Given the description of an element on the screen output the (x, y) to click on. 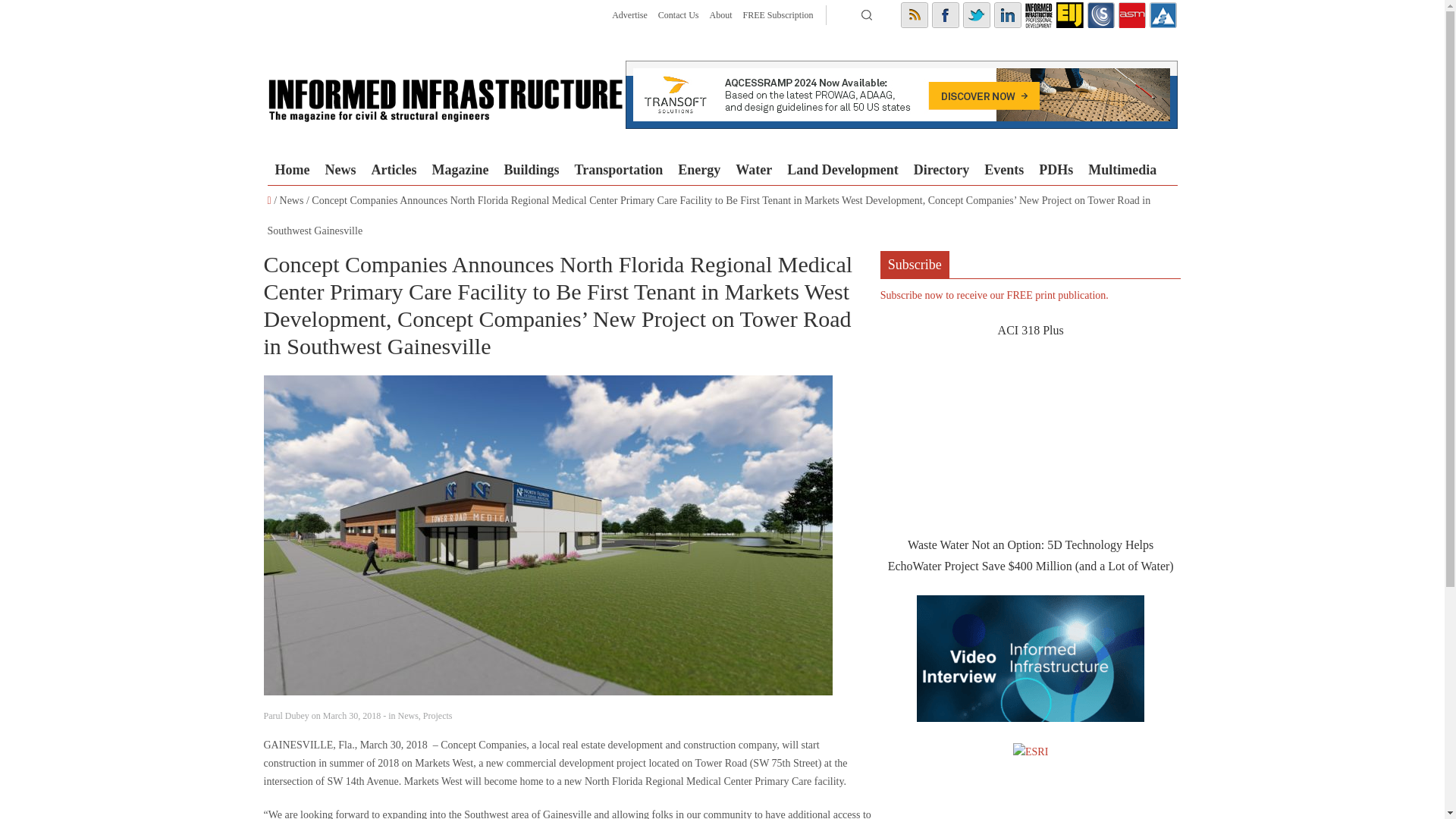
Twitter (976, 14)
About (720, 14)
Sensors and Systems (1101, 14)
Facebook (944, 14)
RSS (914, 14)
Picasa (1101, 14)
ESRI (1030, 751)
Contact Us (678, 14)
Vimeo (1163, 14)
Linkedin (1006, 14)
